Given the description of an element on the screen output the (x, y) to click on. 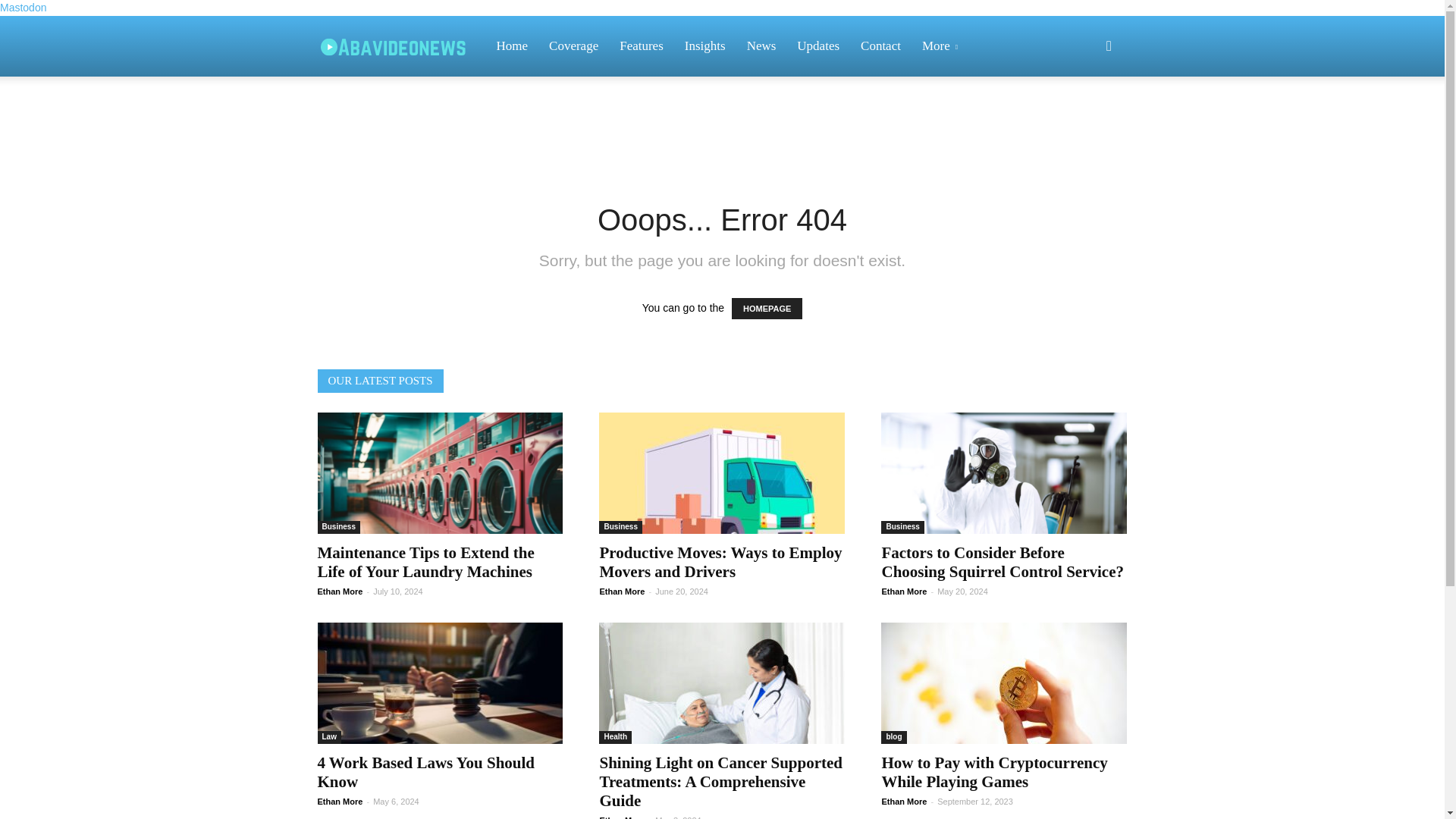
Features (641, 45)
Productive Moves: Ways to Employ Movers and Drivers (721, 472)
Insights (705, 45)
HOMEPAGE (767, 308)
Contact (880, 45)
More (942, 45)
Coverage (573, 45)
Search (1085, 119)
Updates (818, 45)
Maintenance Tips to Extend the Life of Your Laundry Machines (425, 561)
Maintenance Tips to Extend the Life of Your Laundry Machines (439, 472)
Business (338, 526)
Advertisement (721, 128)
